Given the description of an element on the screen output the (x, y) to click on. 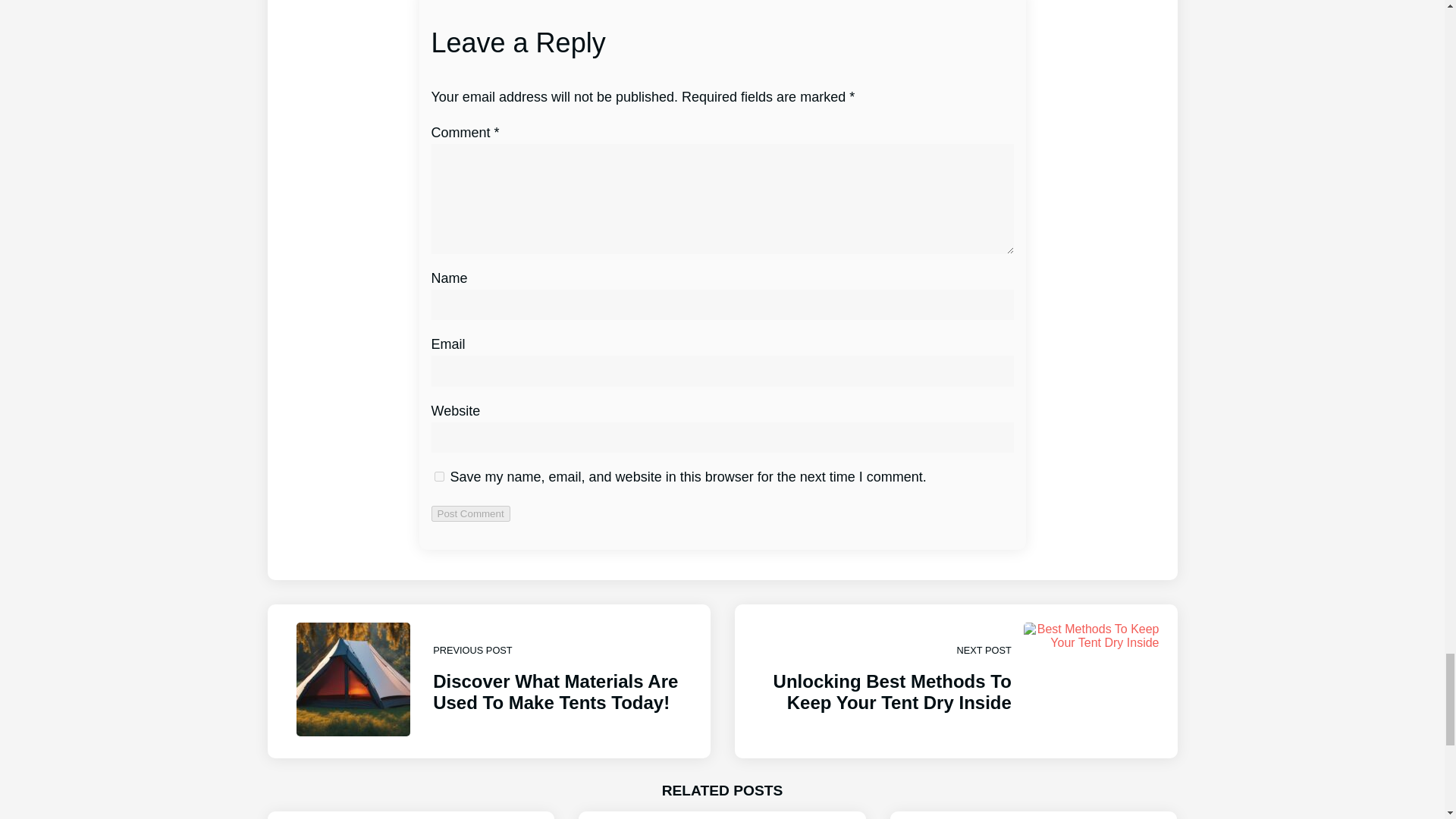
Post Comment (469, 513)
Post Comment (469, 513)
yes (438, 476)
